Given the description of an element on the screen output the (x, y) to click on. 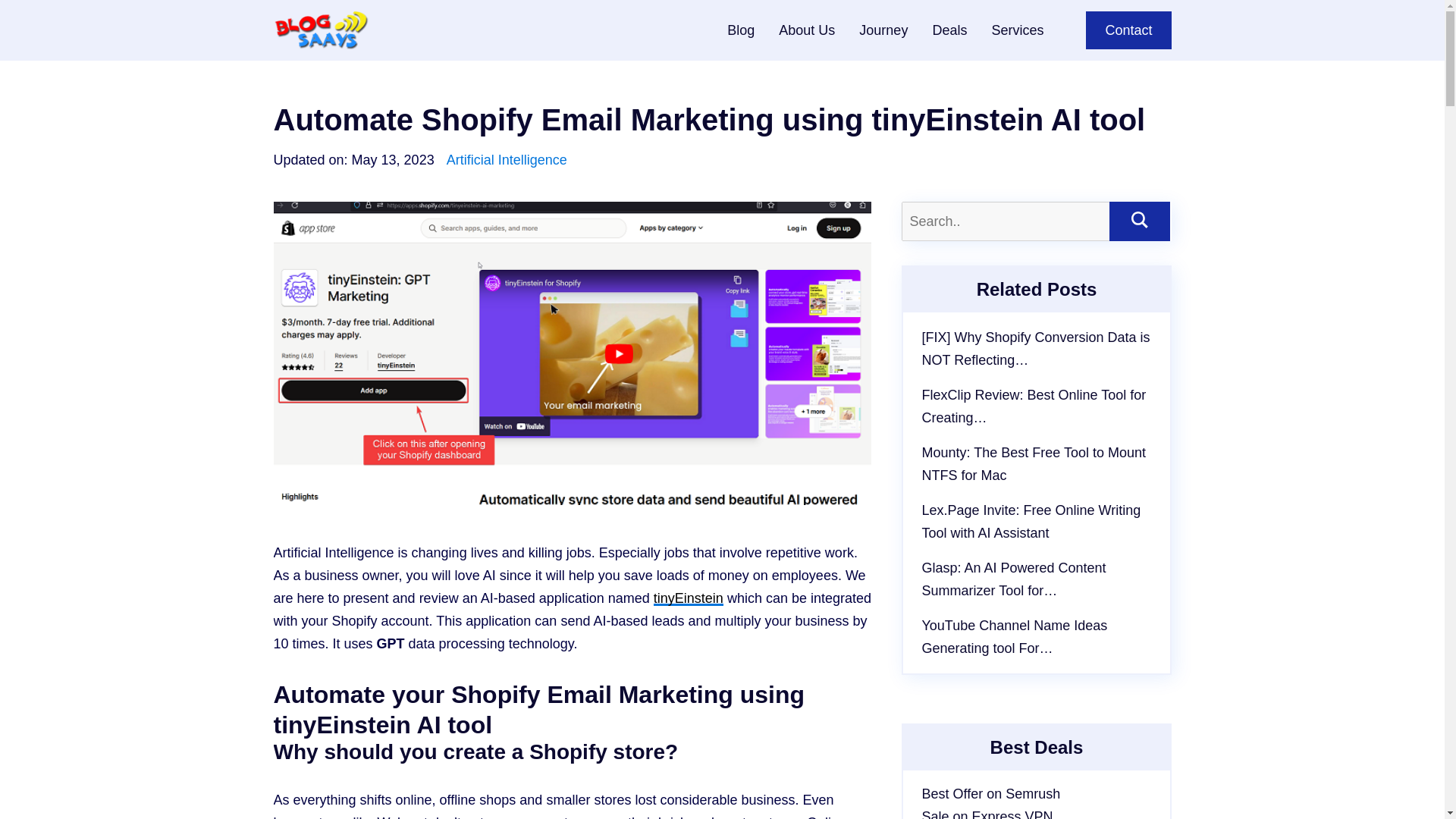
tinyEinstein (688, 598)
About Us (818, 29)
Best Offer on Semrush (1036, 793)
Blog (752, 29)
Deals (961, 29)
Services (1029, 29)
Artificial Intelligence (506, 159)
Mounty: The Best Free Tool to Mount NTFS for Mac (1033, 464)
Sale on Express VPN (1036, 812)
Journey (895, 29)
